Given the description of an element on the screen output the (x, y) to click on. 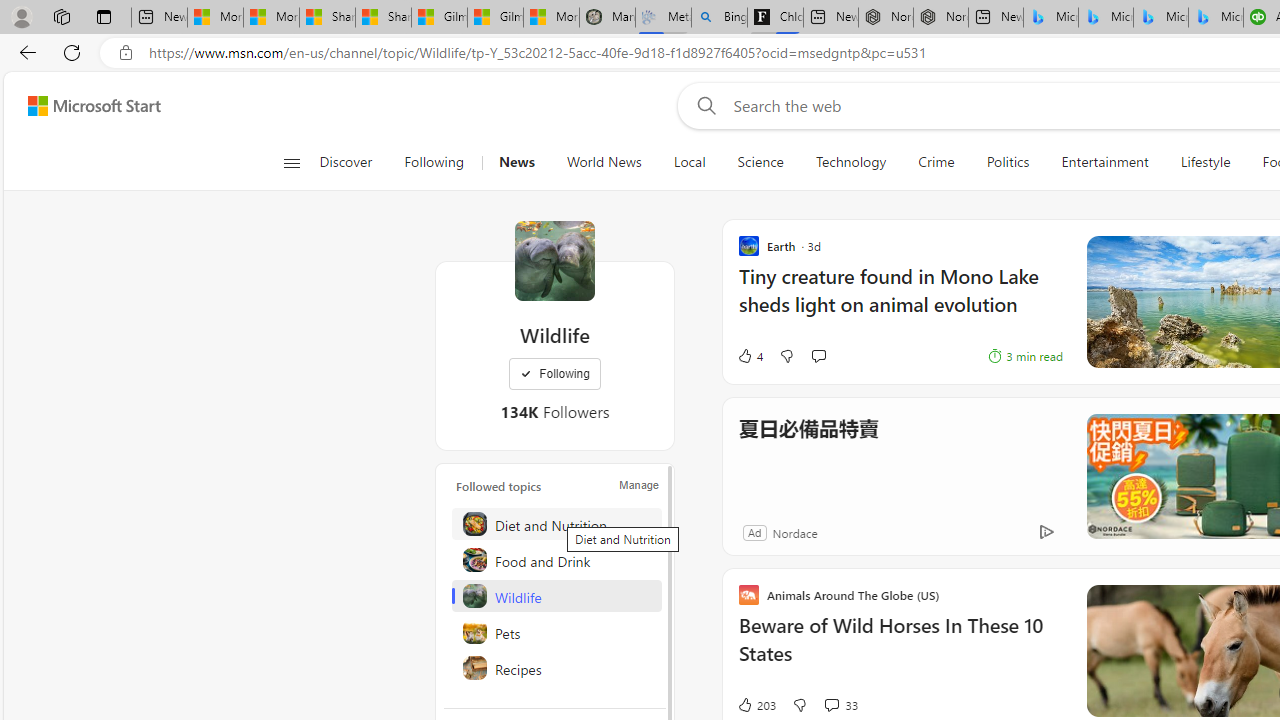
4 Like (749, 355)
Beware of Wild Horses In These 10 States (900, 650)
Bing Real Estate - Home sales and rental listings (719, 17)
203 Like (755, 704)
Diet and Nutrition (556, 524)
Web search (702, 105)
View comments 33 Comment (831, 704)
Technology (851, 162)
